Given the description of an element on the screen output the (x, y) to click on. 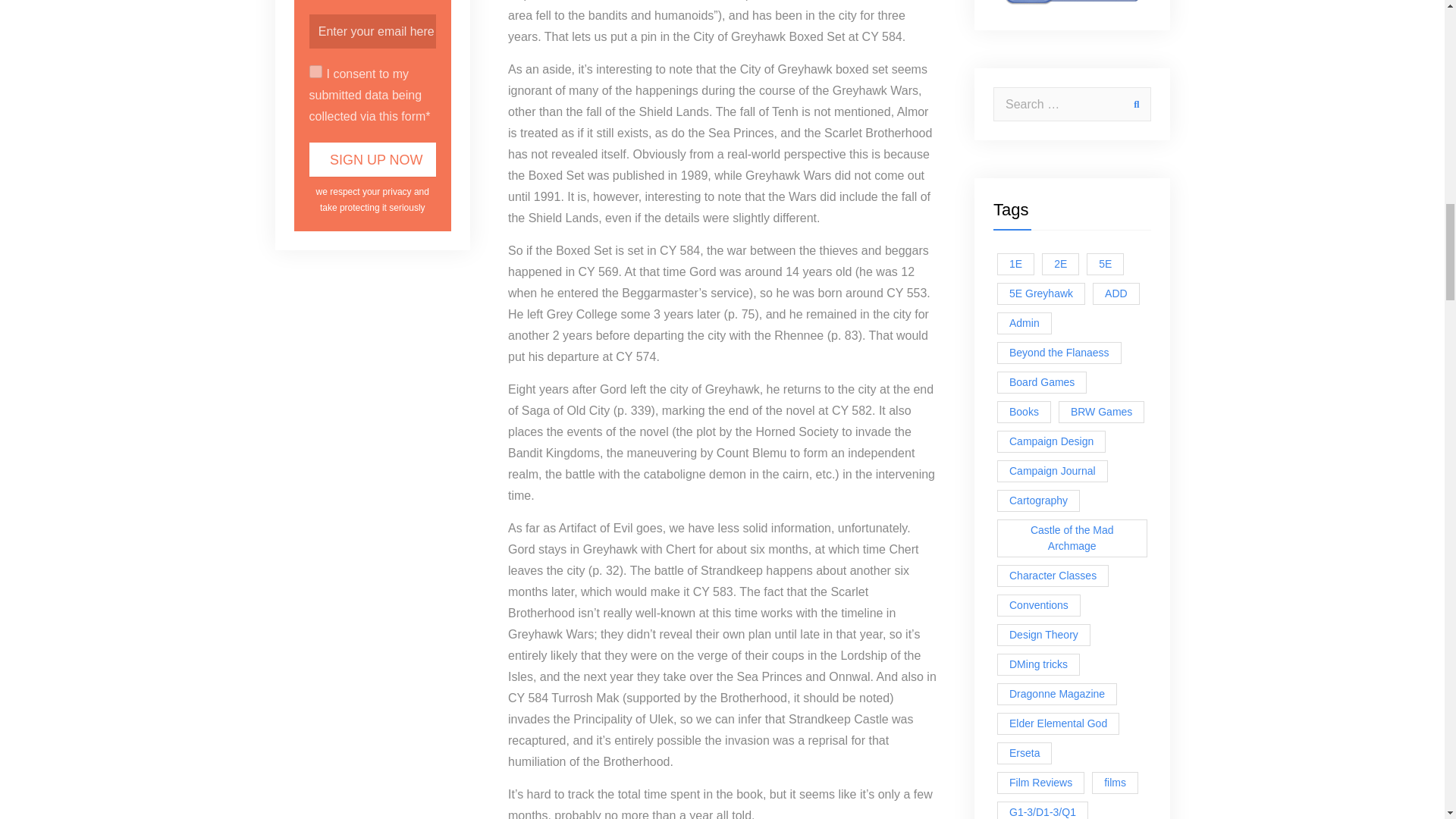
on (314, 71)
Sign Up Now (372, 159)
